Given the description of an element on the screen output the (x, y) to click on. 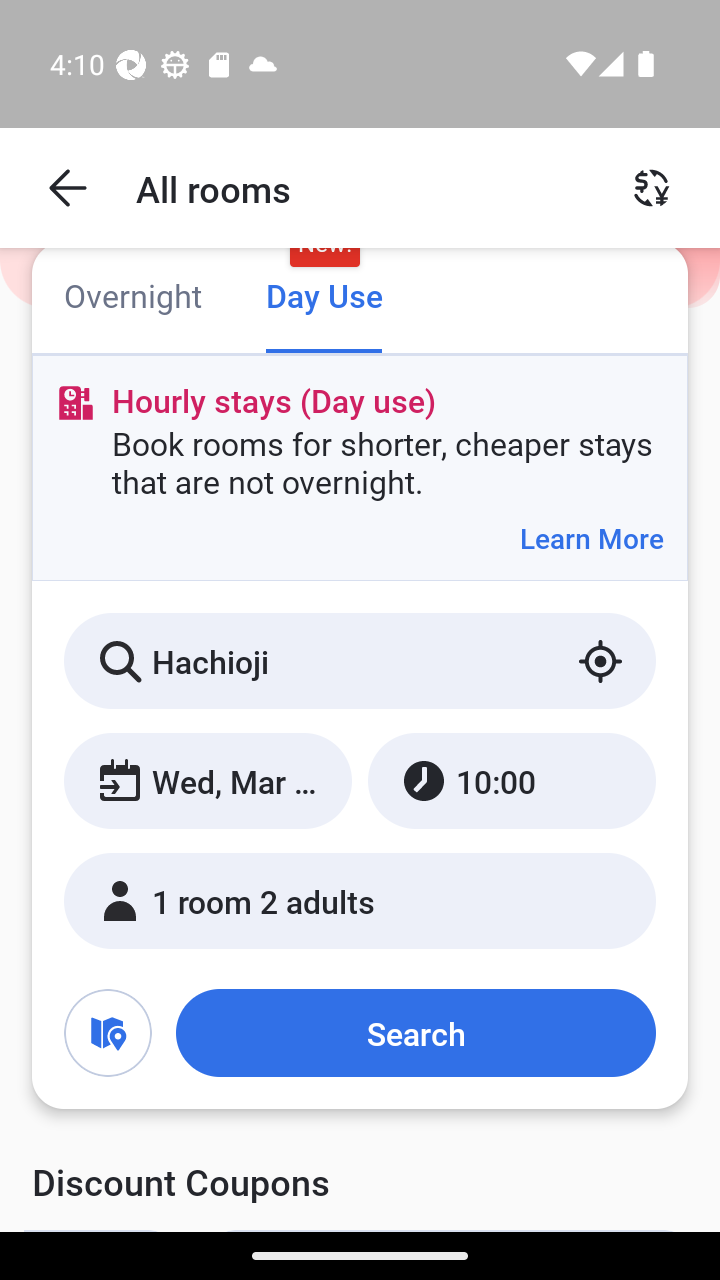
Overnight (132, 298)
Learn More (591, 538)
Hachioji (359, 661)
Wed, Mar 13 (208, 781)
10:00 (511, 781)
1 room 2 adults (359, 900)
Search (415, 1033)
